Given the description of an element on the screen output the (x, y) to click on. 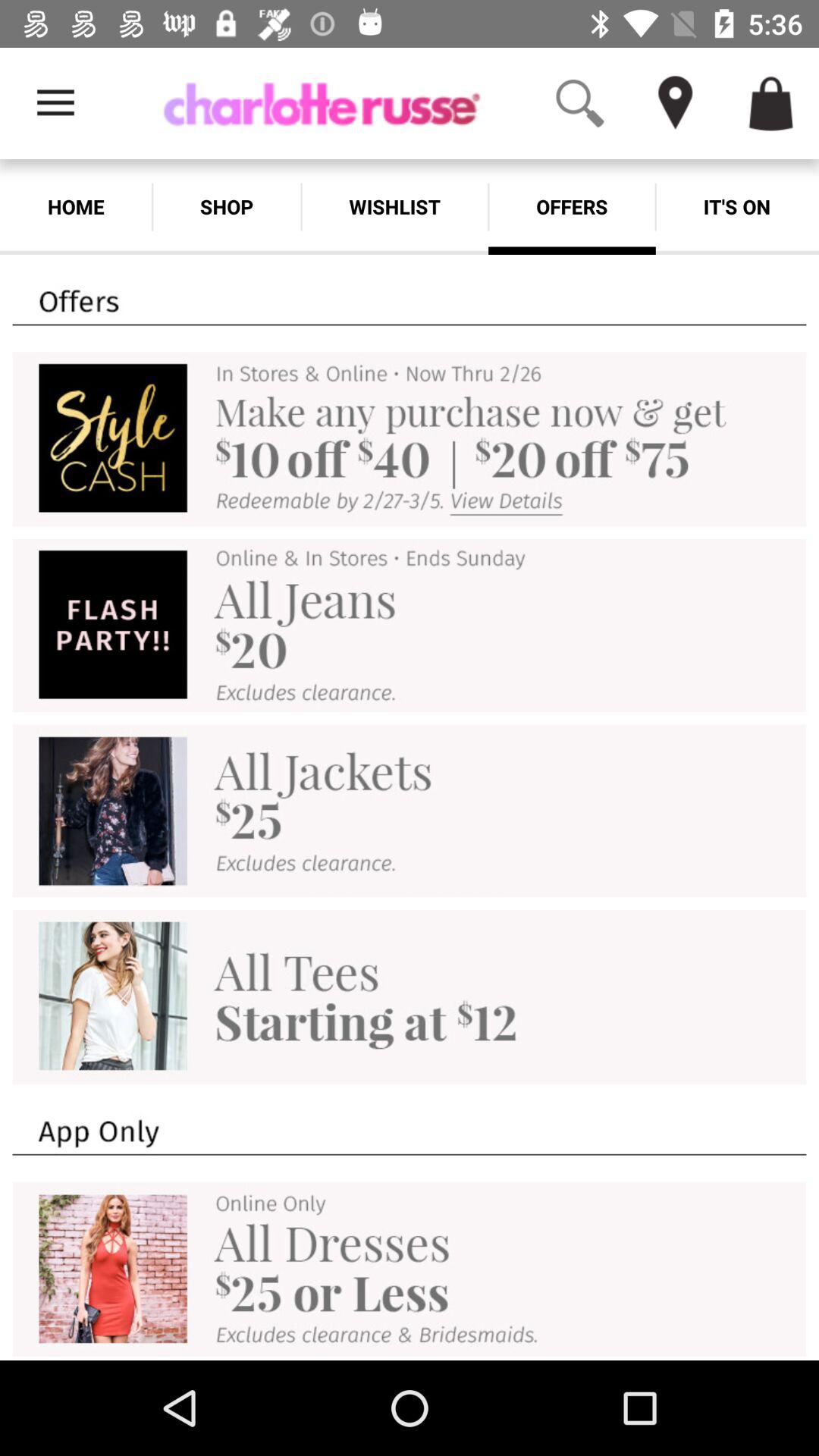
press item to the right of the offers icon (736, 206)
